Given the description of an element on the screen output the (x, y) to click on. 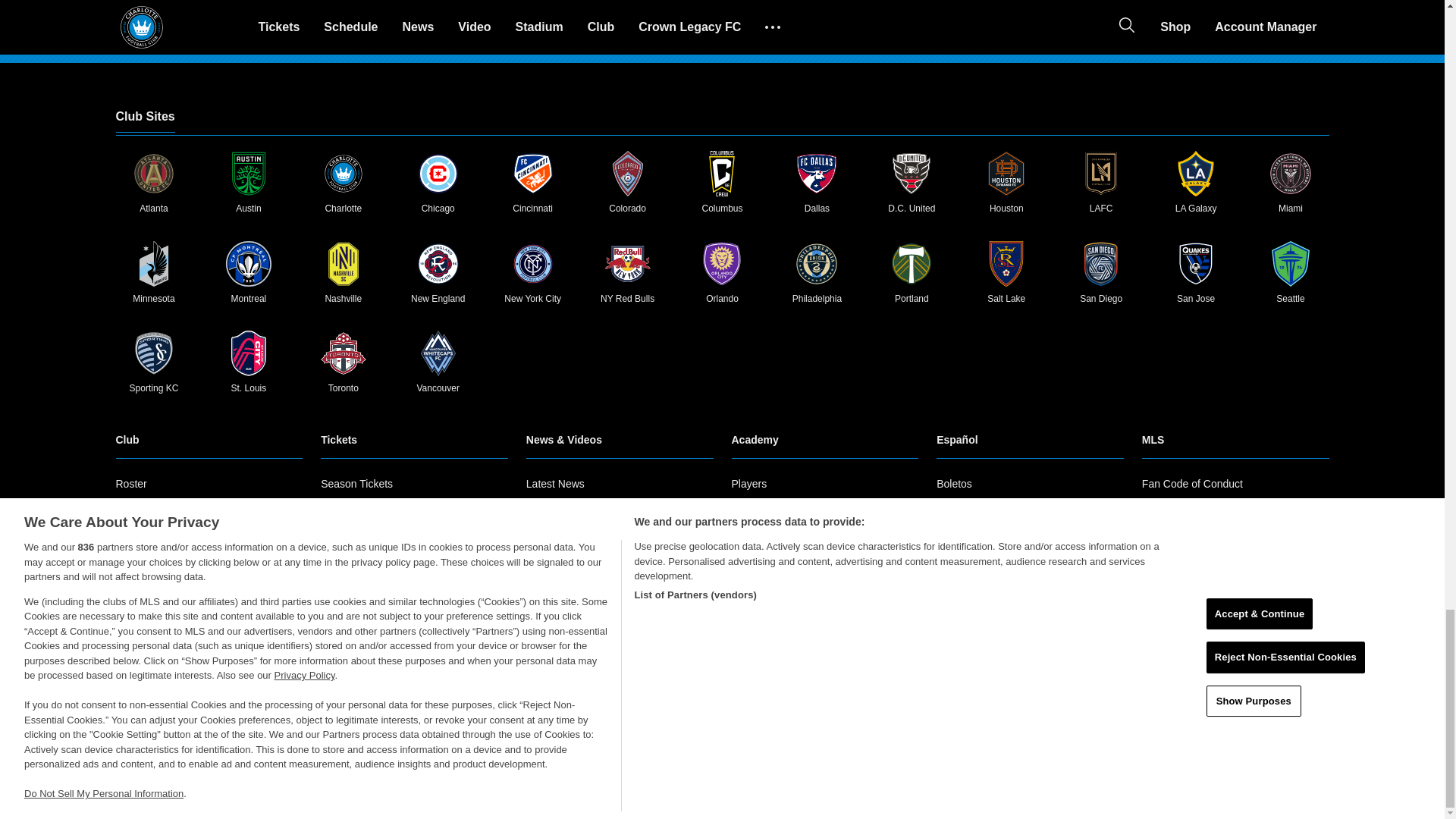
Link to Charlotte (343, 173)
Link to Atlanta (153, 173)
Link to Austin (247, 173)
